Given the description of an element on the screen output the (x, y) to click on. 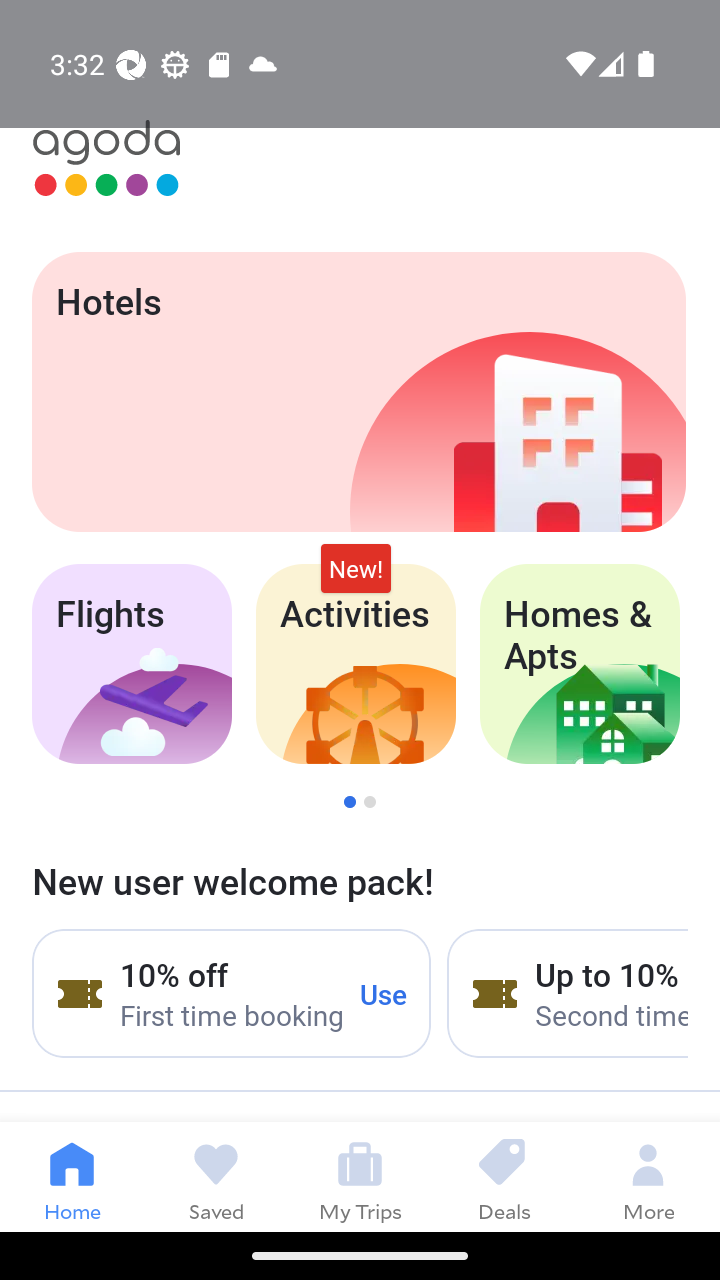
Hotels (358, 392)
New! (355, 568)
Flights (131, 664)
Activities (355, 664)
Homes & Apts (579, 664)
Use (384, 993)
Home (72, 1176)
Saved (216, 1176)
My Trips (360, 1176)
Deals (504, 1176)
More (648, 1176)
